Given the description of an element on the screen output the (x, y) to click on. 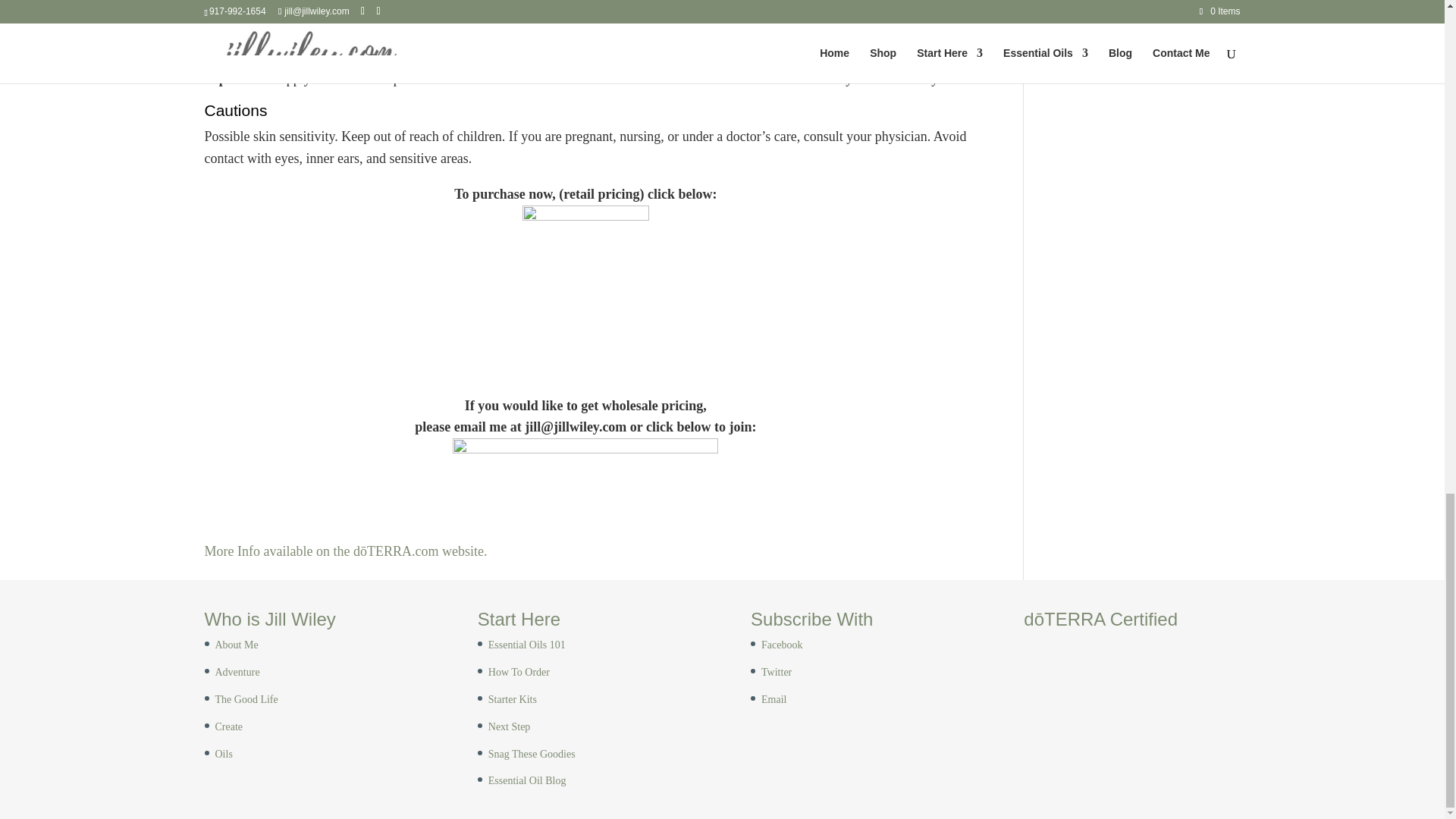
Create (229, 726)
Click to Verify (1100, 636)
Essential Oils 101 (526, 644)
Adventure (237, 672)
About Me (237, 644)
The Good Life (246, 699)
Oils (223, 754)
